Given the description of an element on the screen output the (x, y) to click on. 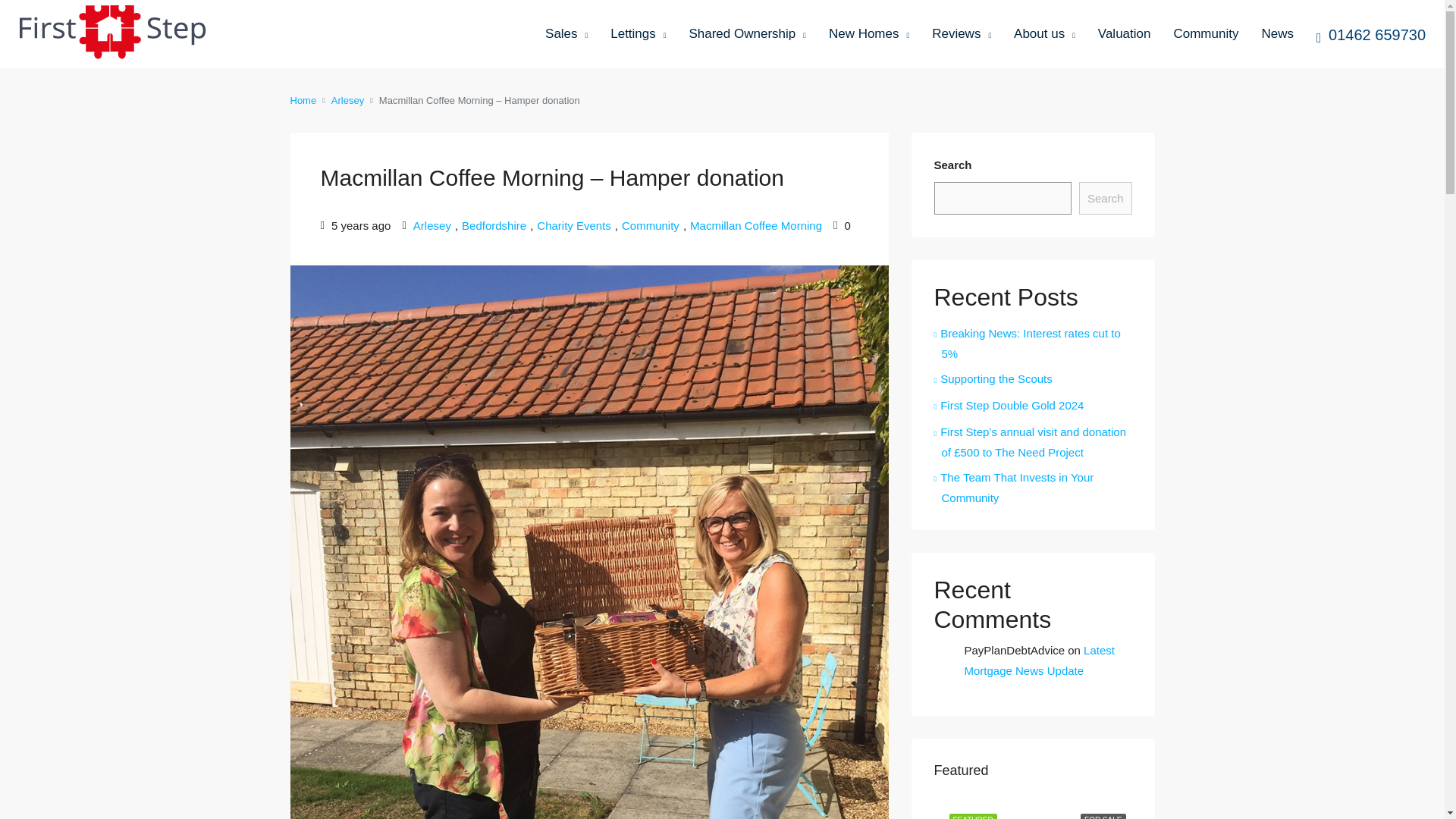
Sales (566, 34)
Lettings (637, 34)
Shared Ownership (746, 34)
New Homes (868, 34)
